Given the description of an element on the screen output the (x, y) to click on. 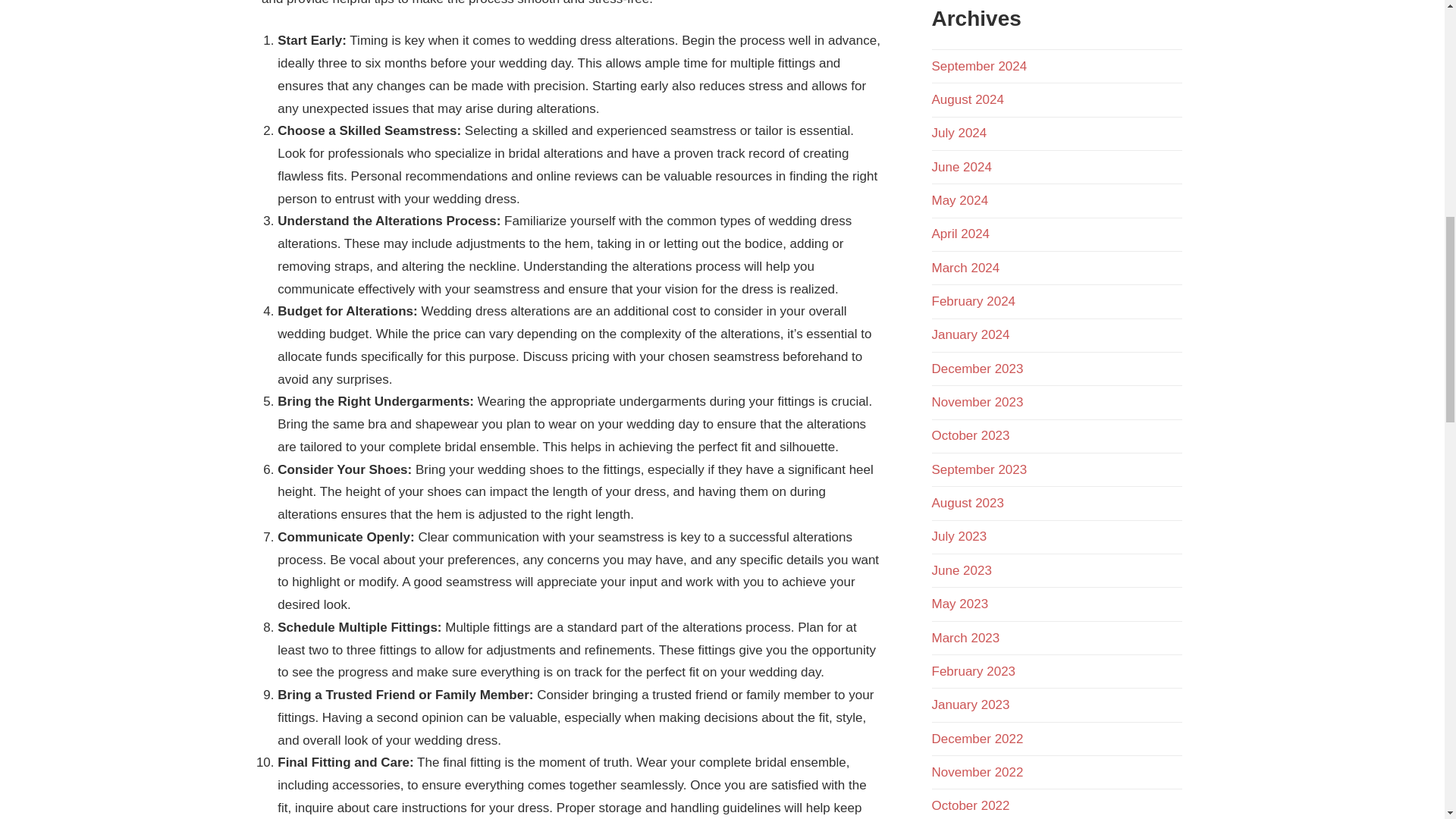
June 2023 (961, 570)
July 2023 (959, 536)
July 2024 (959, 133)
March 2023 (964, 637)
May 2023 (959, 603)
August 2023 (967, 503)
April 2024 (960, 233)
October 2023 (970, 435)
December 2023 (977, 368)
September 2024 (978, 65)
